Given the description of an element on the screen output the (x, y) to click on. 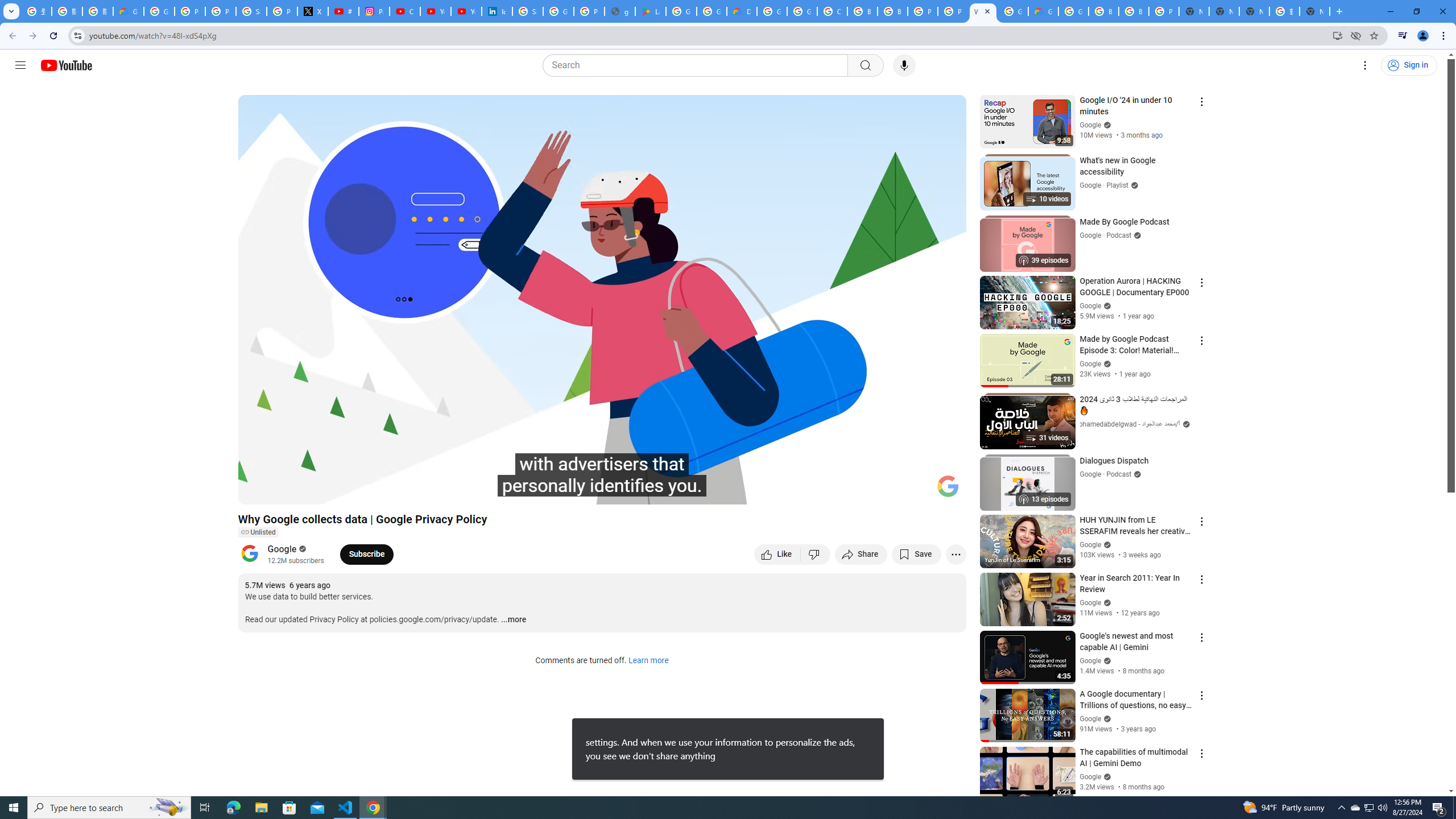
Channel watermark (947, 486)
Google Cloud Privacy Notice (127, 11)
Browse Chrome as a guest - Computer - Google Chrome Help (862, 11)
Search (865, 65)
Google Workspace - Specific Terms (711, 11)
Next (SHIFT+n) (284, 490)
